Given the description of an element on the screen output the (x, y) to click on. 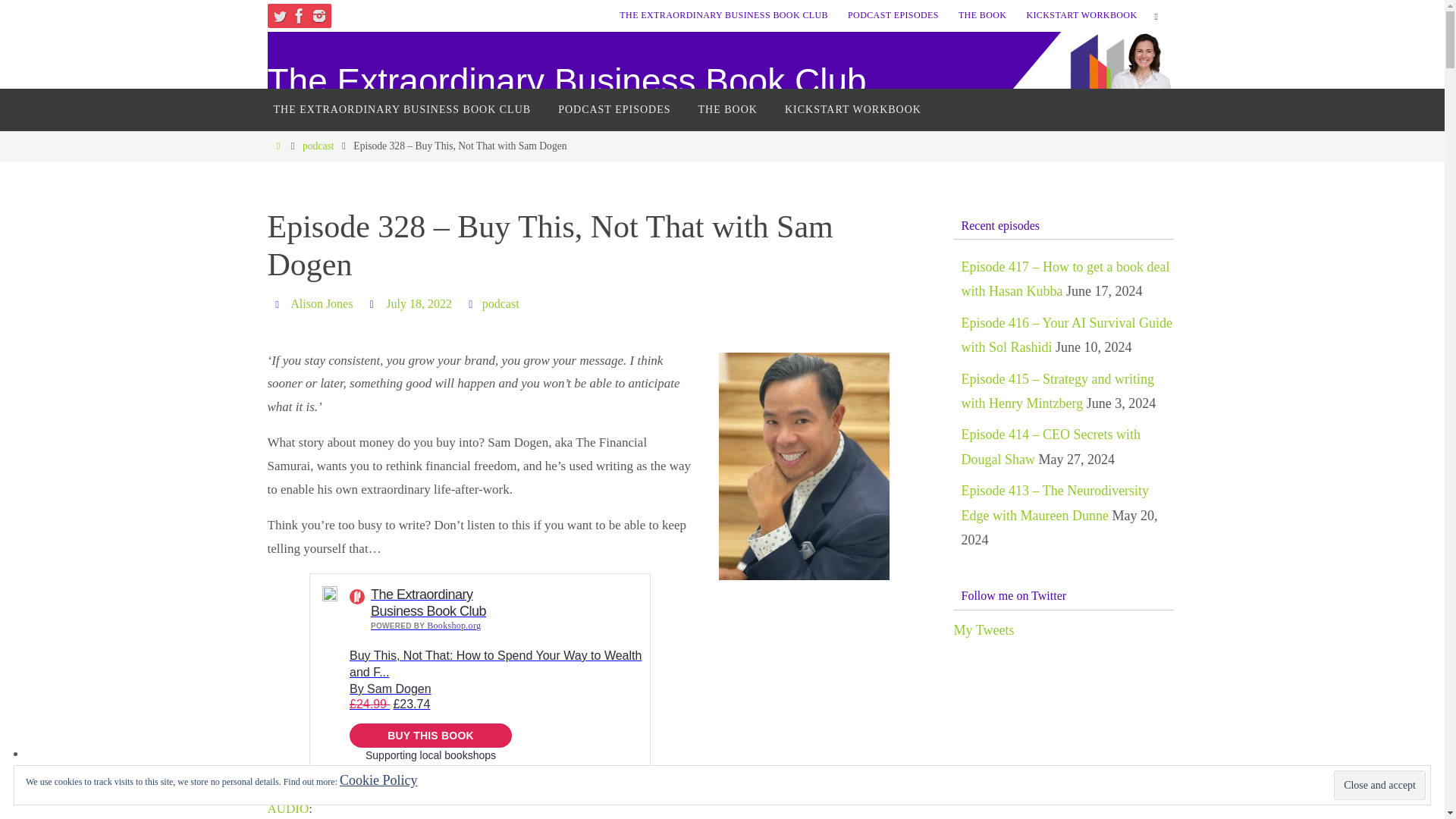
podcast (500, 304)
Author  (278, 303)
AUDIO (287, 808)
KICKSTART WORKBOOK (1080, 14)
THE EXTRAORDINARY BUSINESS BOOK CLUB (401, 109)
PODCAST EPISODES (893, 14)
THE BOOK (982, 14)
podcast (318, 145)
July 18, 2022 (418, 304)
Instgram (317, 15)
View all posts by Alison Jones (320, 304)
Date (373, 303)
KICKSTART WORKBOOK (852, 109)
THE BOOK (727, 109)
Alison Jones (320, 304)
